Given the description of an element on the screen output the (x, y) to click on. 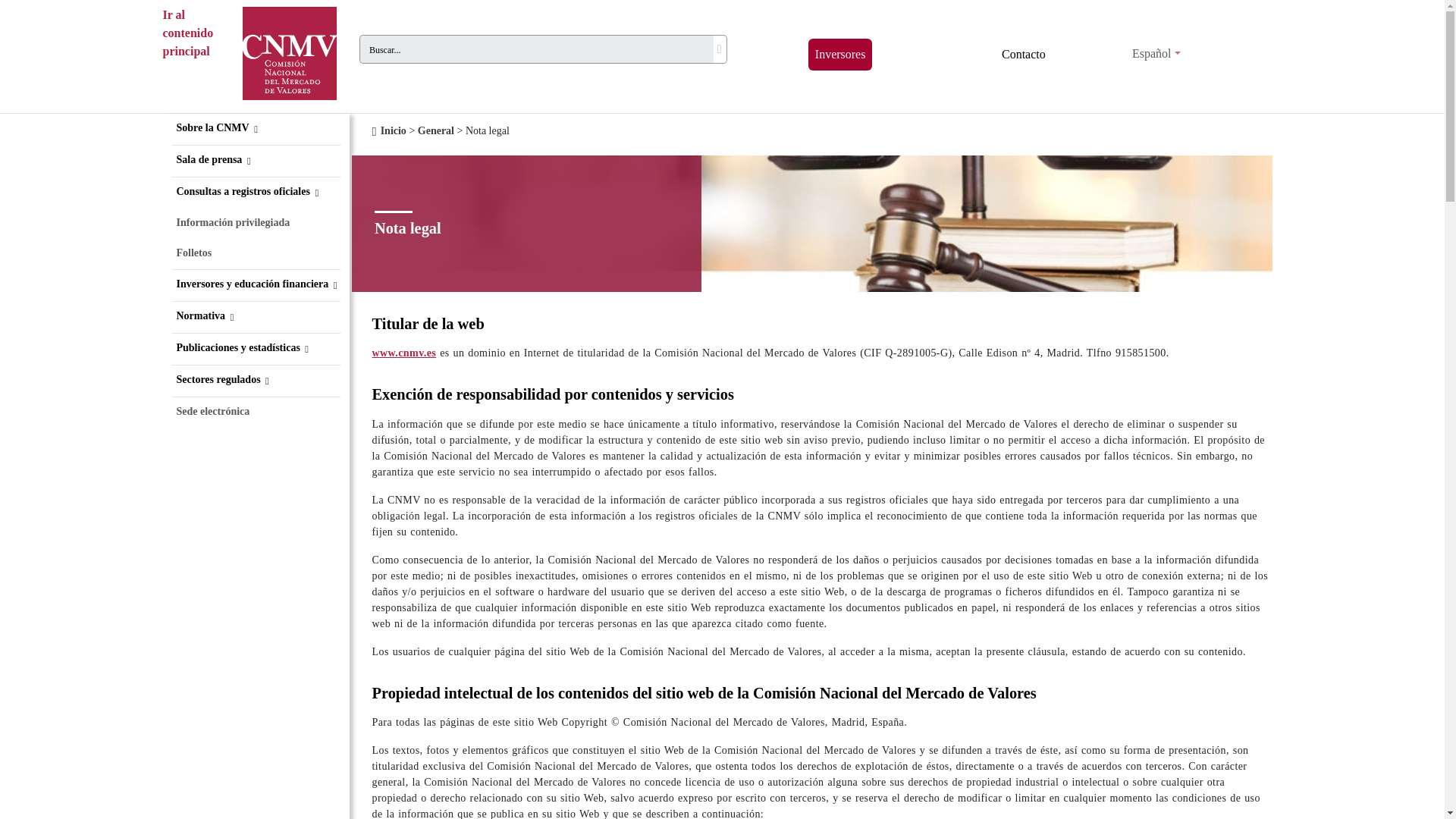
Sobre la CNMV (255, 128)
Ir al contenido principal (197, 52)
Contacto (1023, 54)
Logo CNMV (288, 52)
Inversores (840, 54)
Buscar (719, 49)
